Given the description of an element on the screen output the (x, y) to click on. 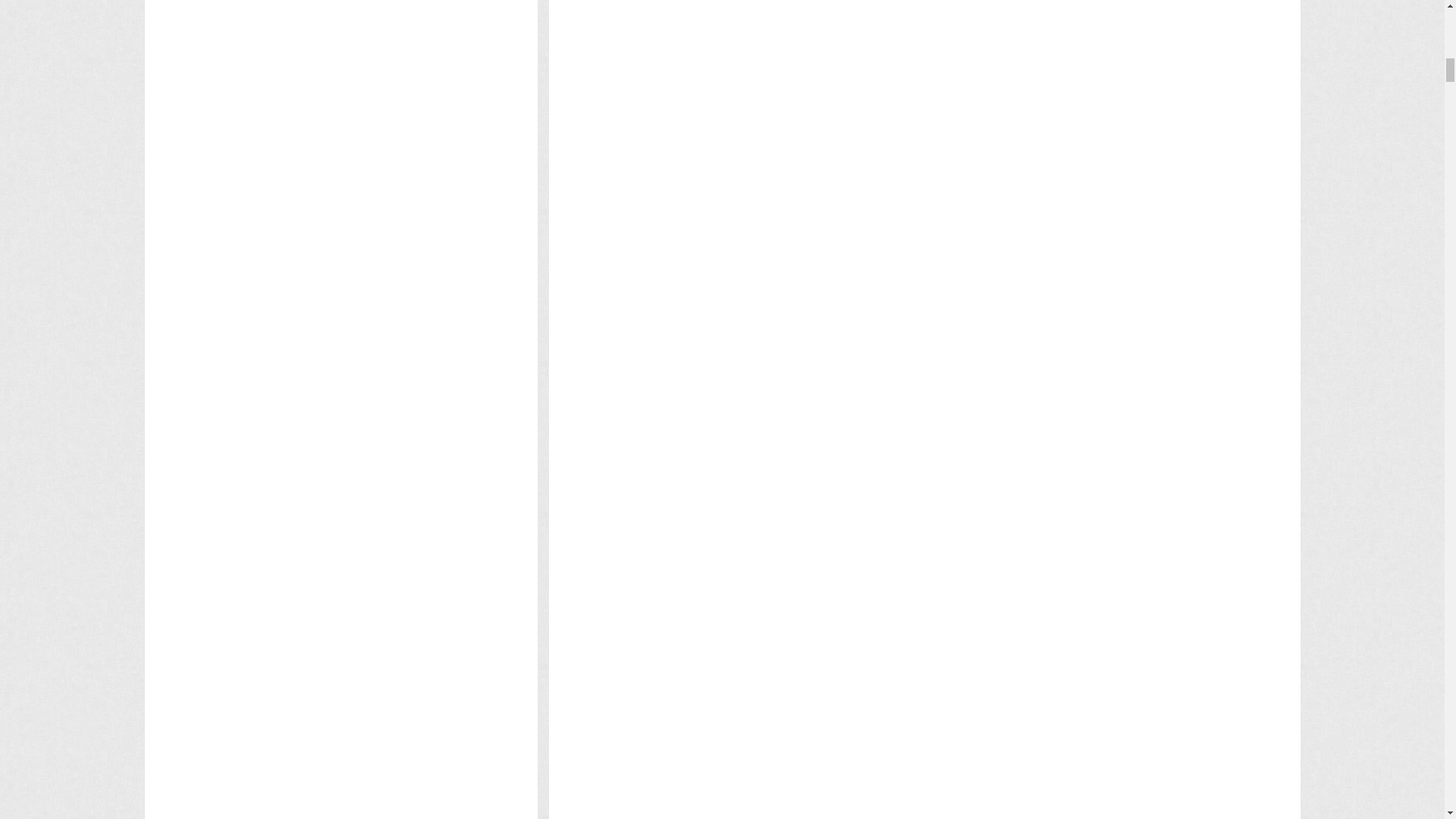
Advertisement (848, 758)
Advertisement (848, 70)
Advertisement (848, 15)
Advertisement (848, 294)
Advertisement (848, 536)
Advertisement (848, 461)
Advertisement (848, 219)
Advertisement (848, 145)
Advertisement (848, 610)
Advertisement (848, 386)
Advertisement (848, 684)
